Given the description of an element on the screen output the (x, y) to click on. 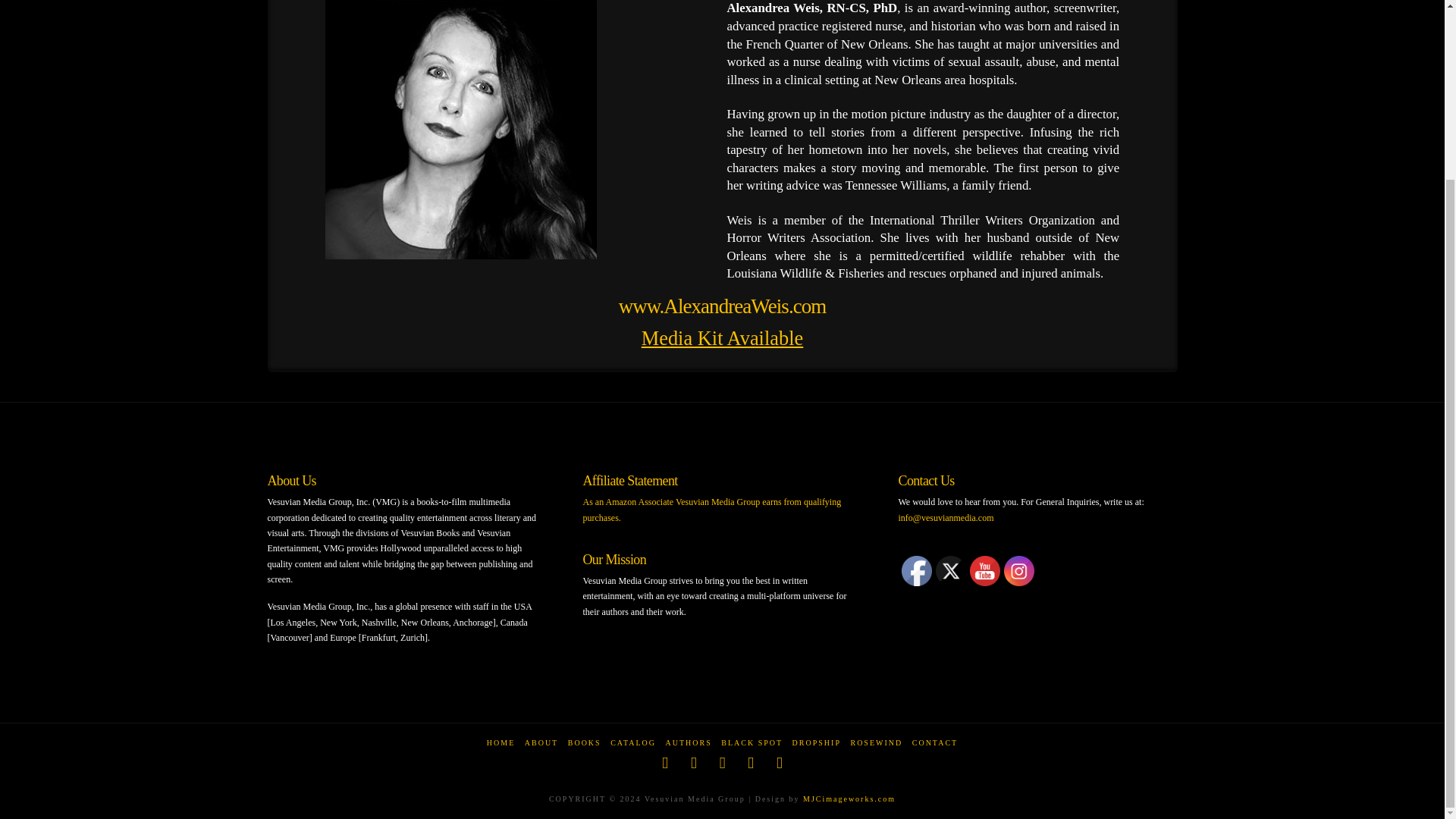
www.AlexandreaWeis.com (722, 305)
Instagram (1018, 571)
YouTube (983, 571)
Media Kit Available (722, 337)
Twitter (951, 571)
Facebook (916, 571)
